Given the description of an element on the screen output the (x, y) to click on. 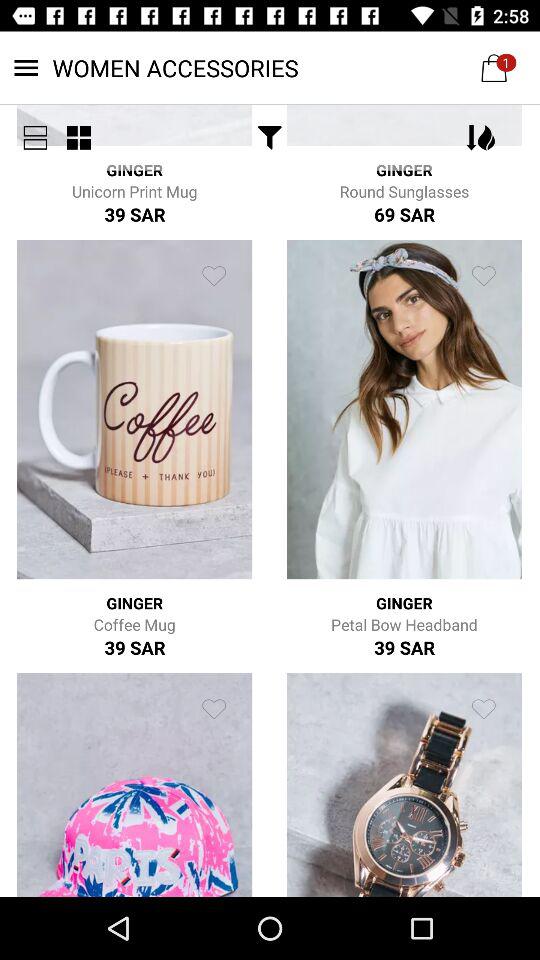
turn off the item below women accessories item (78, 137)
